Given the description of an element on the screen output the (x, y) to click on. 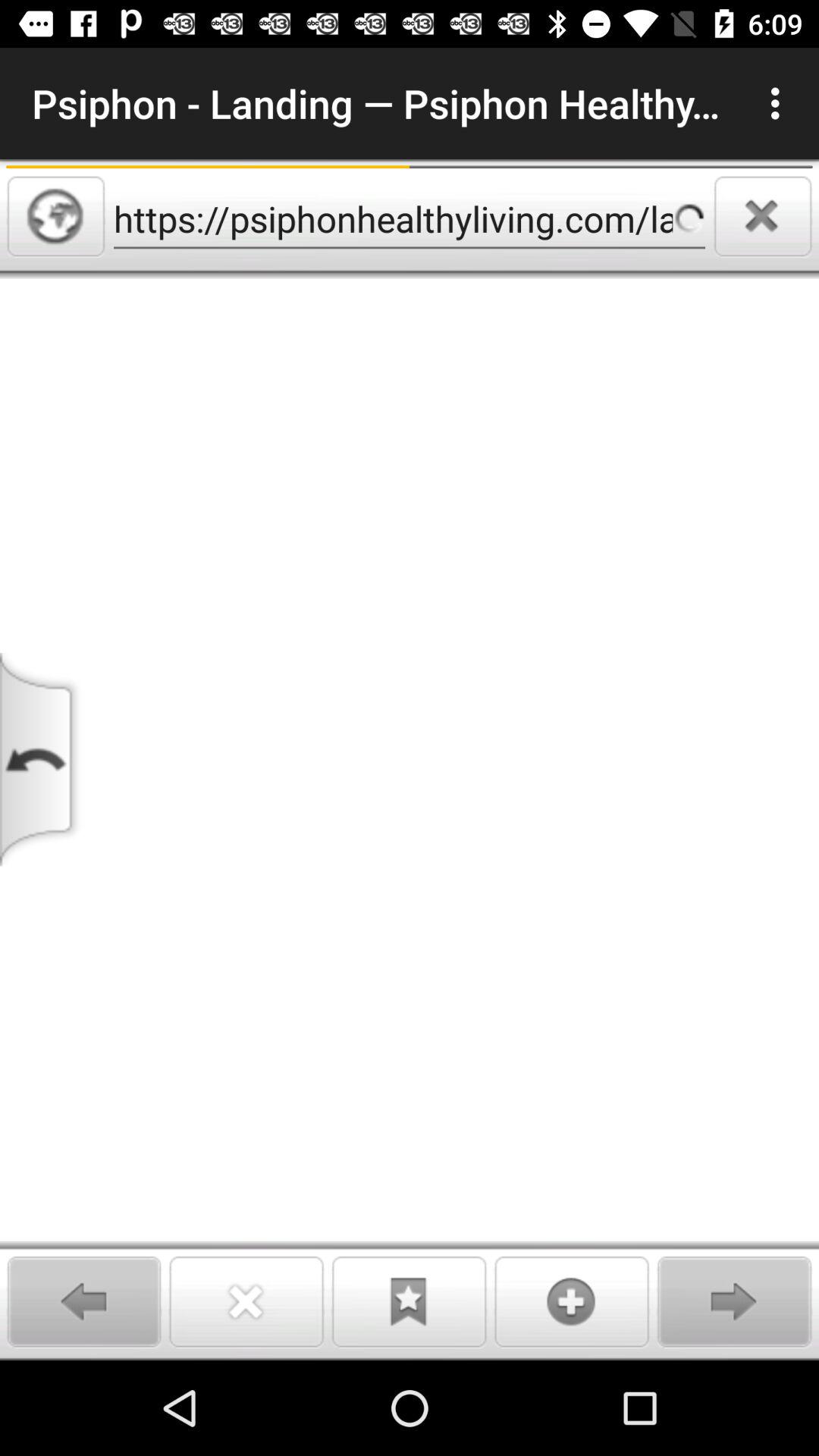
bookmark button (409, 1301)
